Given the description of an element on the screen output the (x, y) to click on. 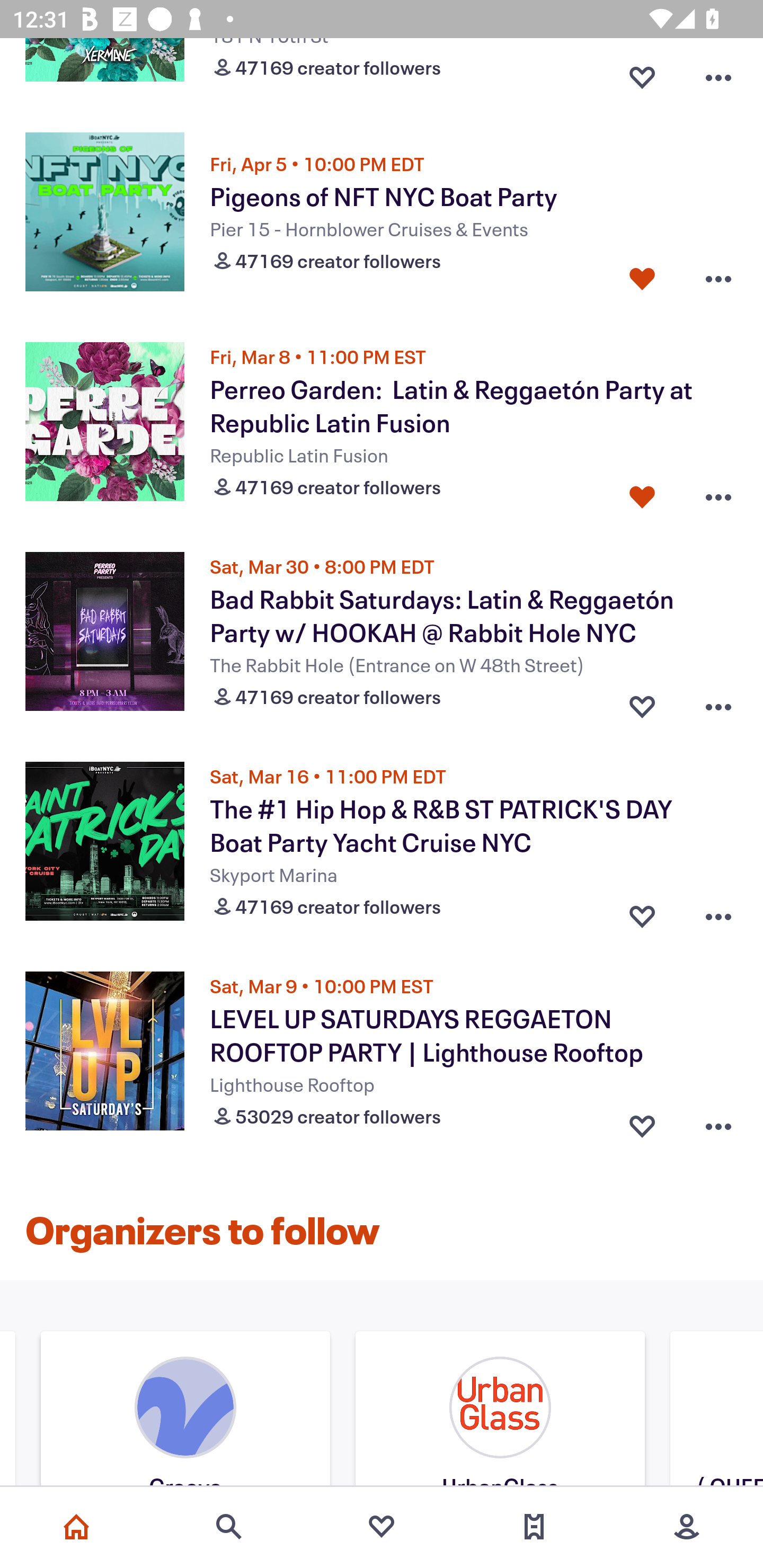
Favorite button (642, 72)
Overflow menu button (718, 72)
Favorite button (642, 278)
Overflow menu button (718, 278)
Favorite button (642, 492)
Overflow menu button (718, 492)
Favorite button (642, 702)
Overflow menu button (718, 702)
Favorite button (642, 911)
Overflow menu button (718, 911)
Favorite button (642, 1121)
Overflow menu button (718, 1121)
Organizer's image Groove (185, 1411)
Organizer's image UrbanGlass (499, 1411)
Home (76, 1526)
Search events (228, 1526)
Favorites (381, 1526)
Tickets (533, 1526)
More (686, 1526)
